Given the description of an element on the screen output the (x, y) to click on. 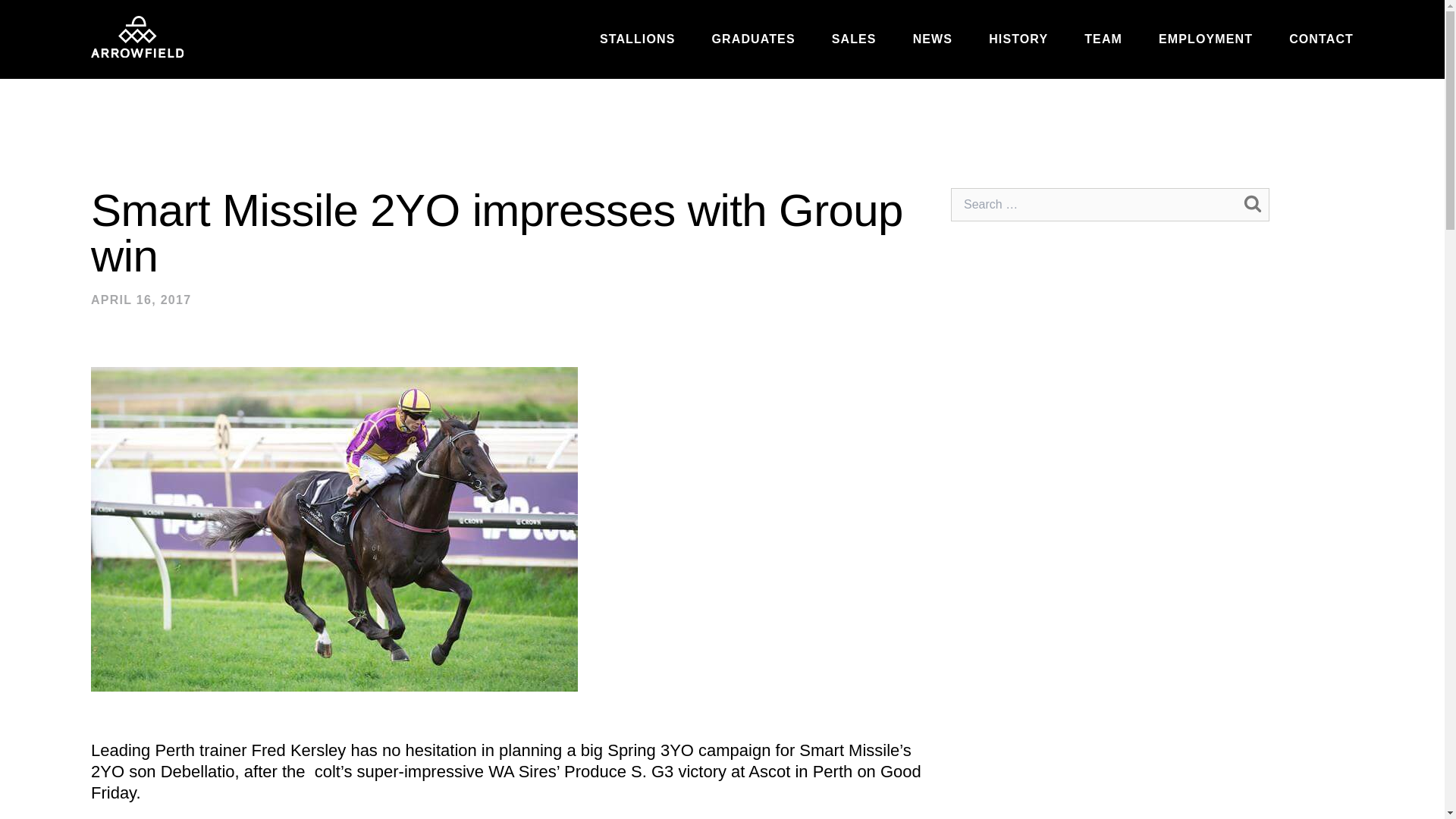
GRADUATES (752, 39)
HISTORY (1018, 39)
Return to the homepage (136, 36)
EMPLOYMENT (1205, 39)
STALLIONS (637, 39)
NEWS (932, 39)
SALES (853, 39)
CONTACT (1321, 39)
TEAM (1103, 39)
